Given the description of an element on the screen output the (x, y) to click on. 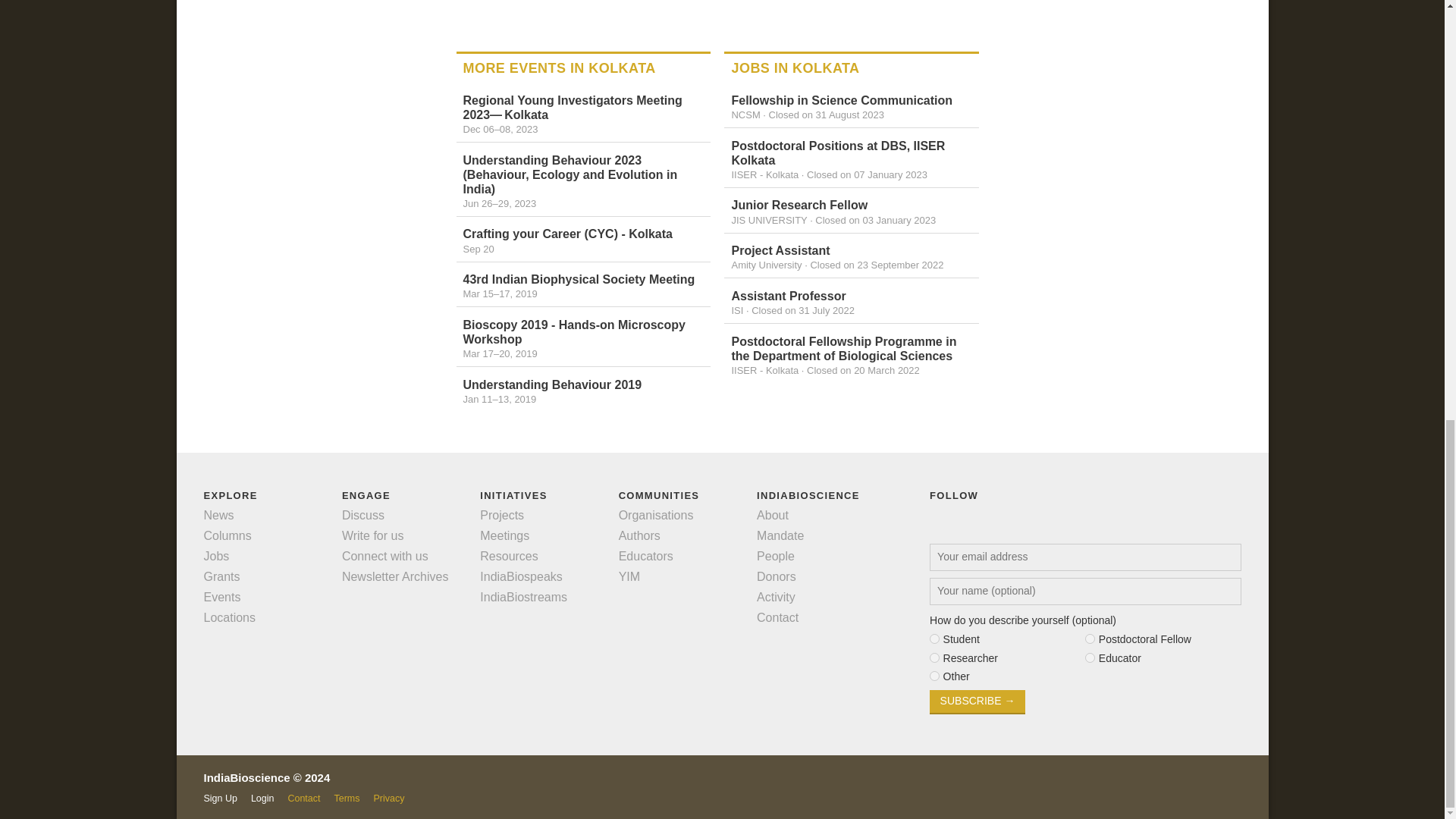
31 August 2023 (825, 114)
7 January 2023 (866, 174)
23 September 2022 (876, 265)
3 January 2023 (875, 220)
Researcher (934, 656)
Educator (1089, 656)
Postdoctoral Fellow (1089, 638)
Other (934, 675)
Student (934, 638)
